Given the description of an element on the screen output the (x, y) to click on. 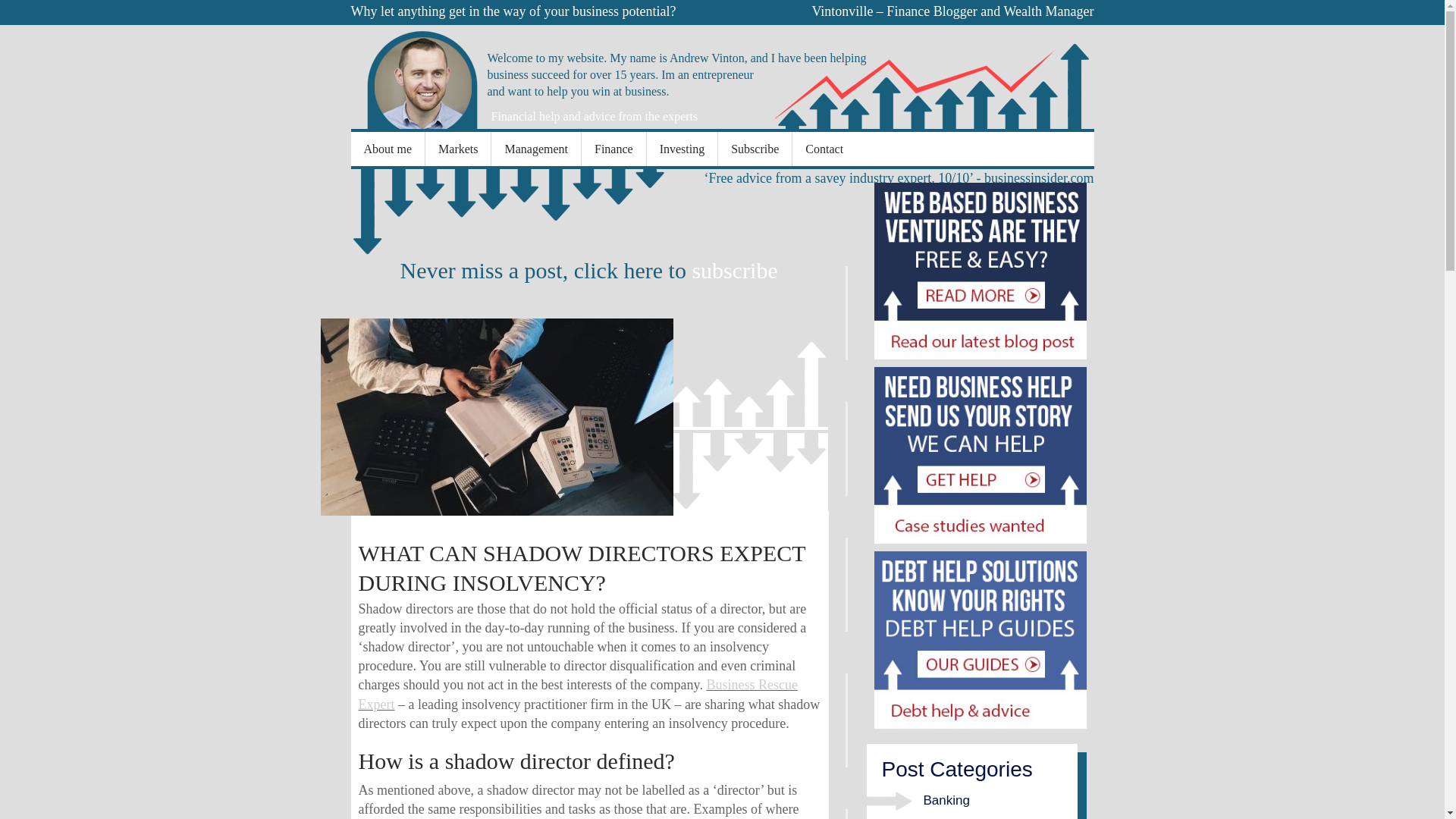
Business Rescue Expert (577, 694)
subscribe (734, 269)
Contact (824, 148)
Markets (457, 148)
About me (388, 148)
Management (535, 148)
Finance (613, 148)
Investing (681, 148)
Subscribe (754, 148)
Banking (946, 800)
